Given the description of an element on the screen output the (x, y) to click on. 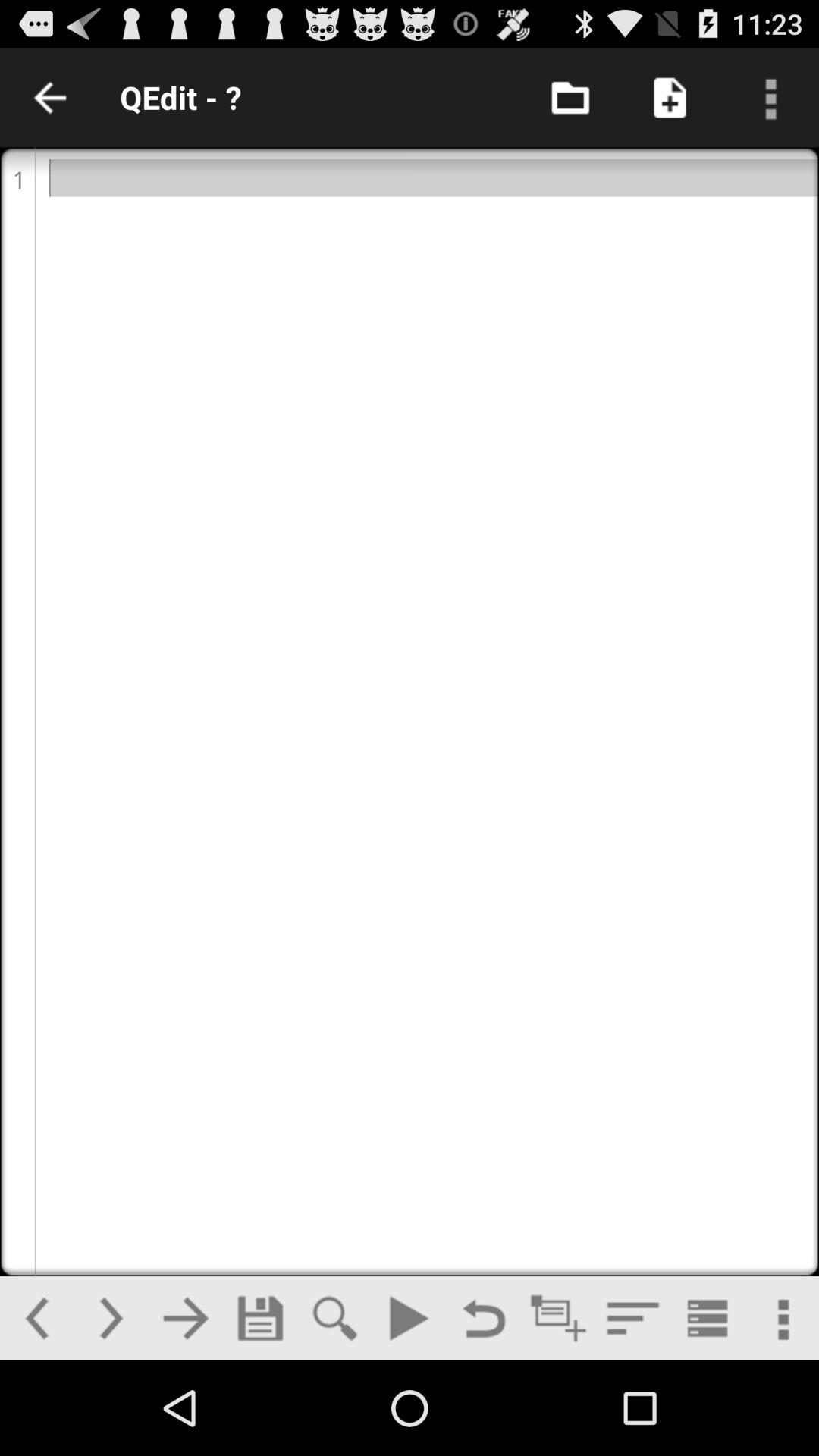
go next (110, 1318)
